Given the description of an element on the screen output the (x, y) to click on. 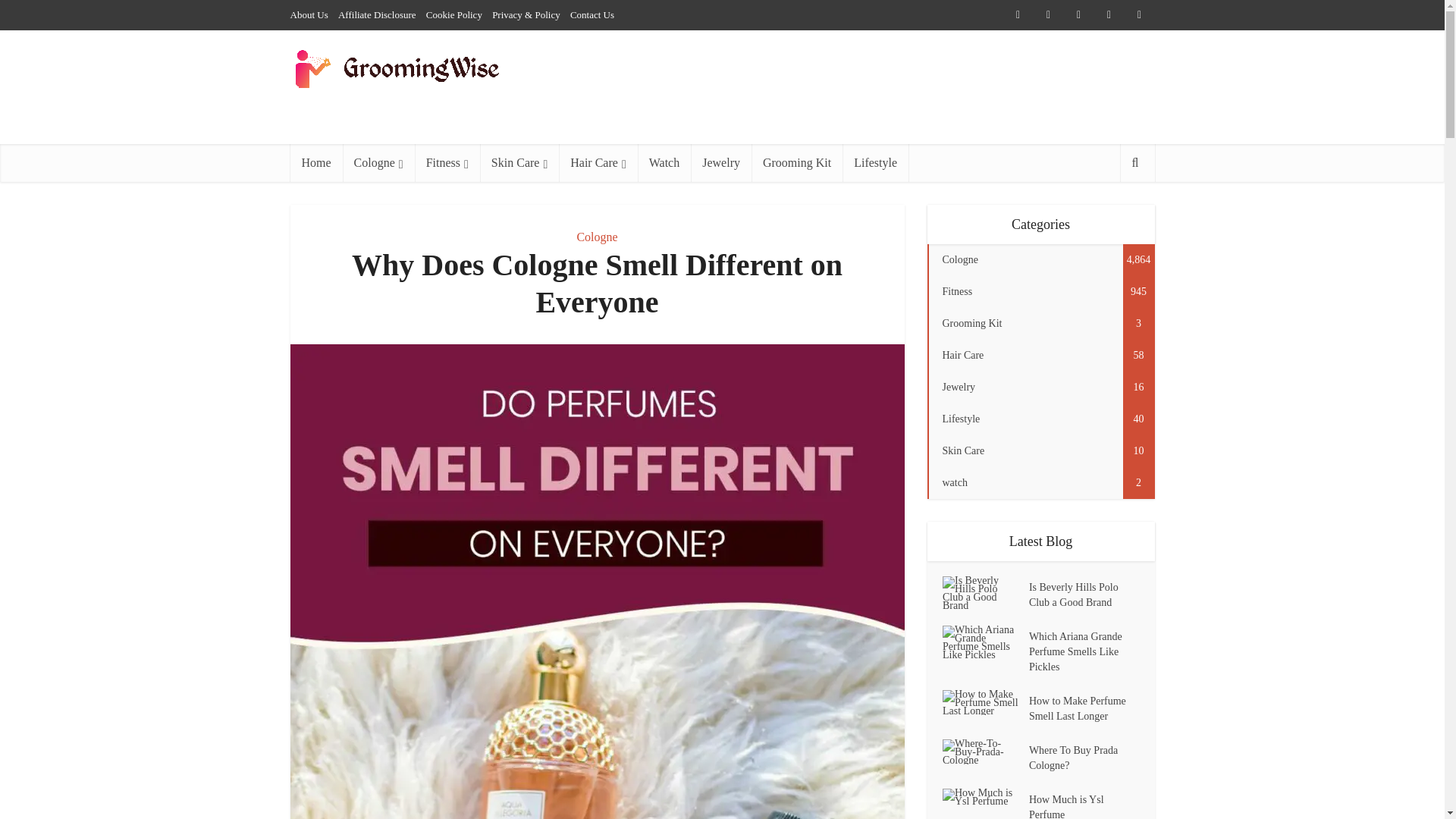
Cookie Policy (453, 14)
Cologne (378, 162)
About Us (308, 14)
Fitness (447, 162)
Contact Us (592, 14)
Skin Care (519, 162)
Affiliate Disclosure (376, 14)
Home (315, 162)
